Given the description of an element on the screen output the (x, y) to click on. 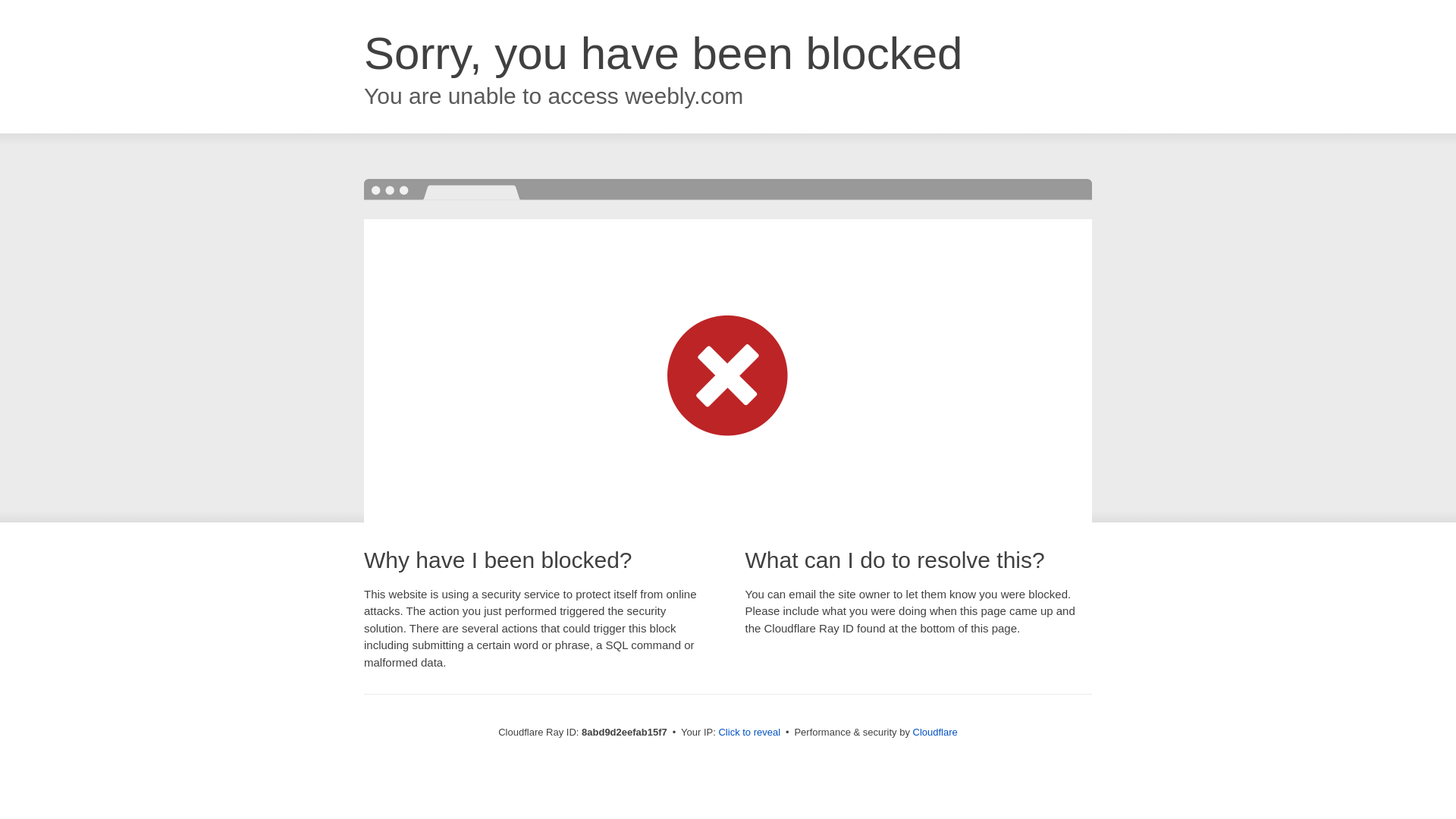
Click to reveal (748, 732)
Cloudflare (935, 731)
